Given the description of an element on the screen output the (x, y) to click on. 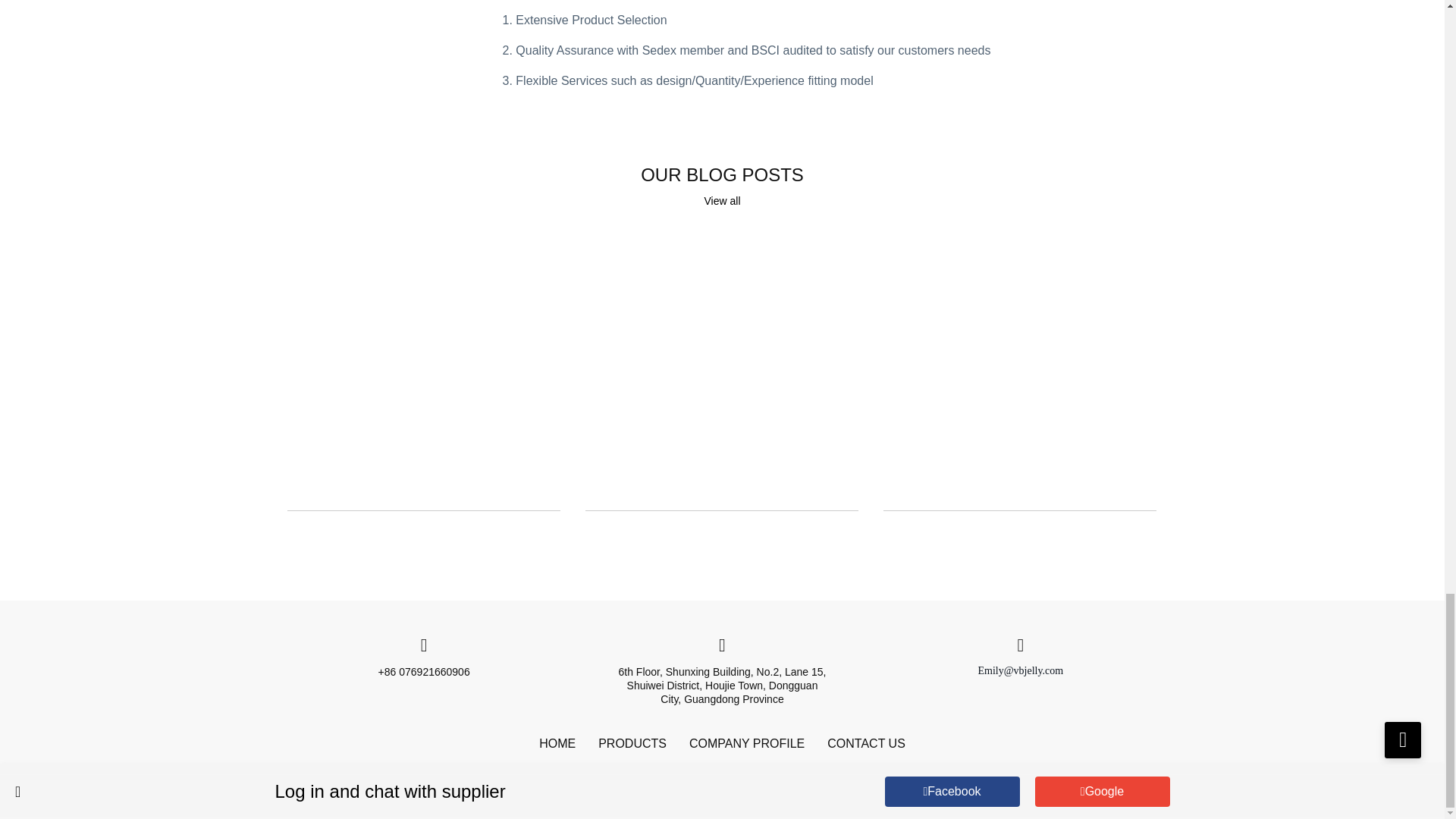
PRODUCTS (632, 743)
View all (721, 200)
CONTACT US (866, 743)
HOME (556, 743)
COMPANY PROFILE (746, 743)
